Given the description of an element on the screen output the (x, y) to click on. 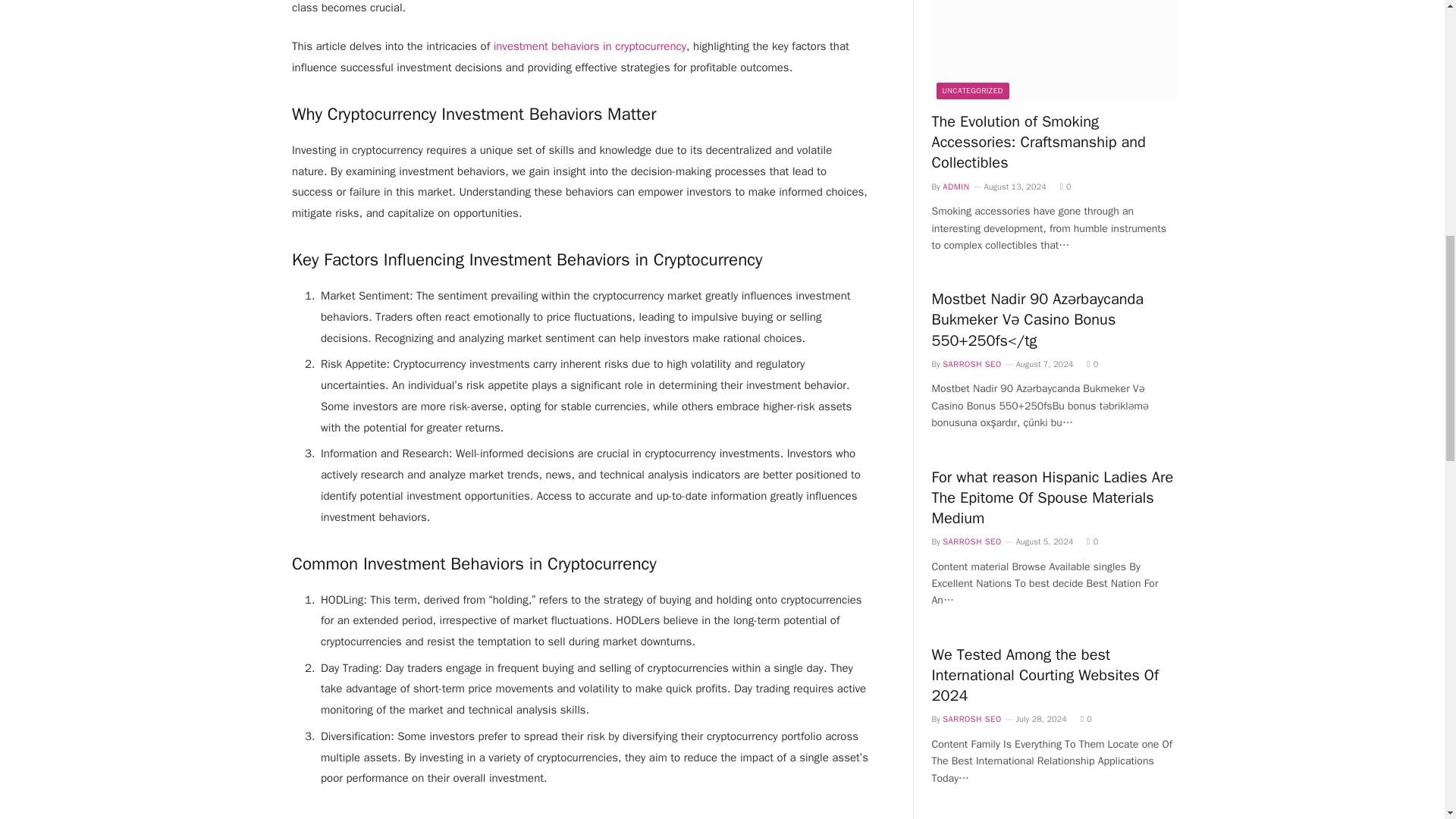
Posts by Sarrosh Seo (971, 718)
Posts by Sarrosh Seo (971, 363)
Posts by Sarrosh Seo (971, 541)
Posts by admin (955, 185)
investment behaviors in cryptocurrency (589, 46)
